Given the description of an element on the screen output the (x, y) to click on. 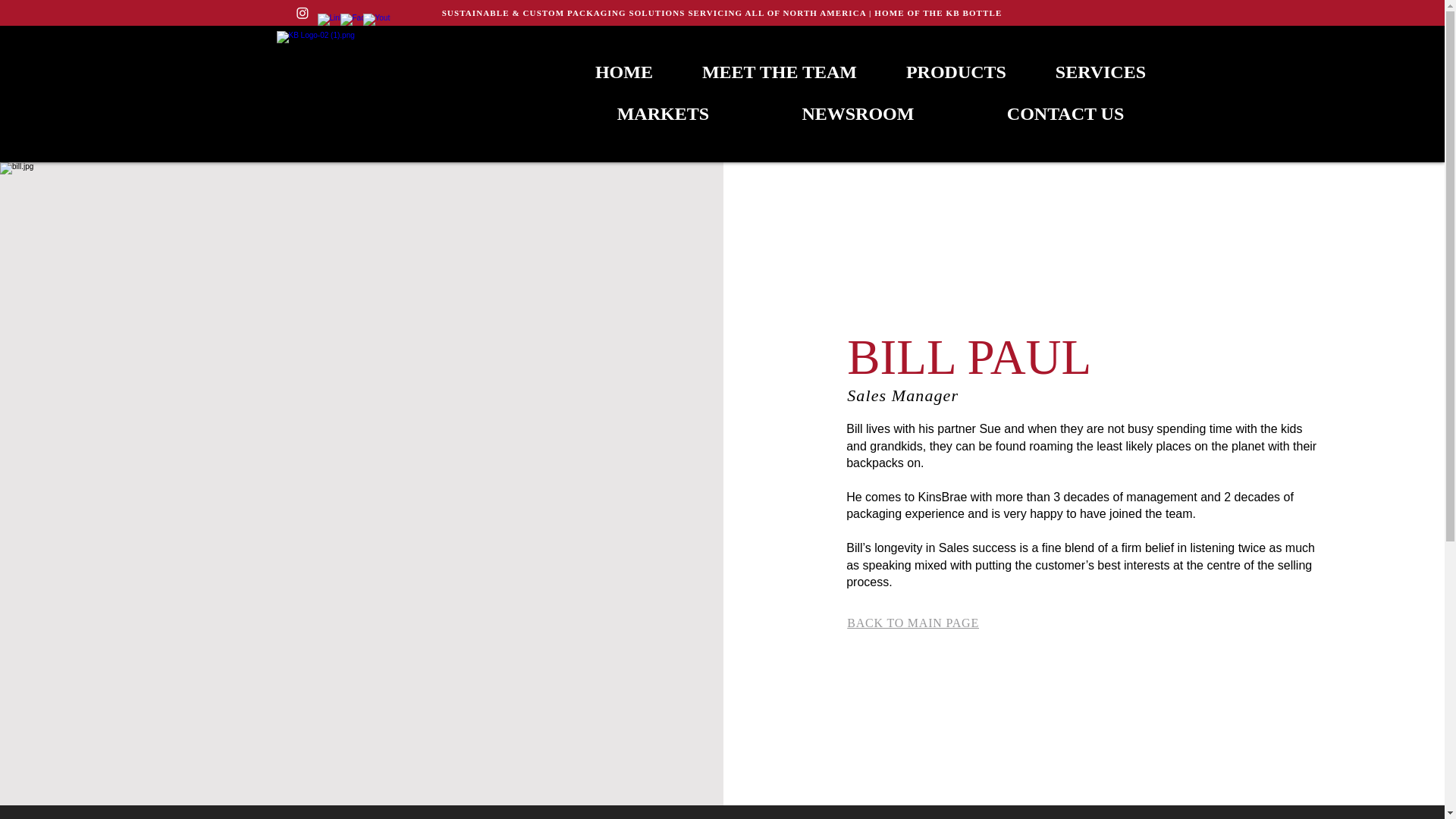
MARKETS (662, 113)
HOME (623, 72)
PRODUCTS (955, 72)
SERVICES (1100, 72)
BACK TO MAIN PAGE (912, 622)
NEWSROOM (857, 113)
MEET THE TEAM (778, 72)
CONTACT US (1065, 113)
